Given the description of an element on the screen output the (x, y) to click on. 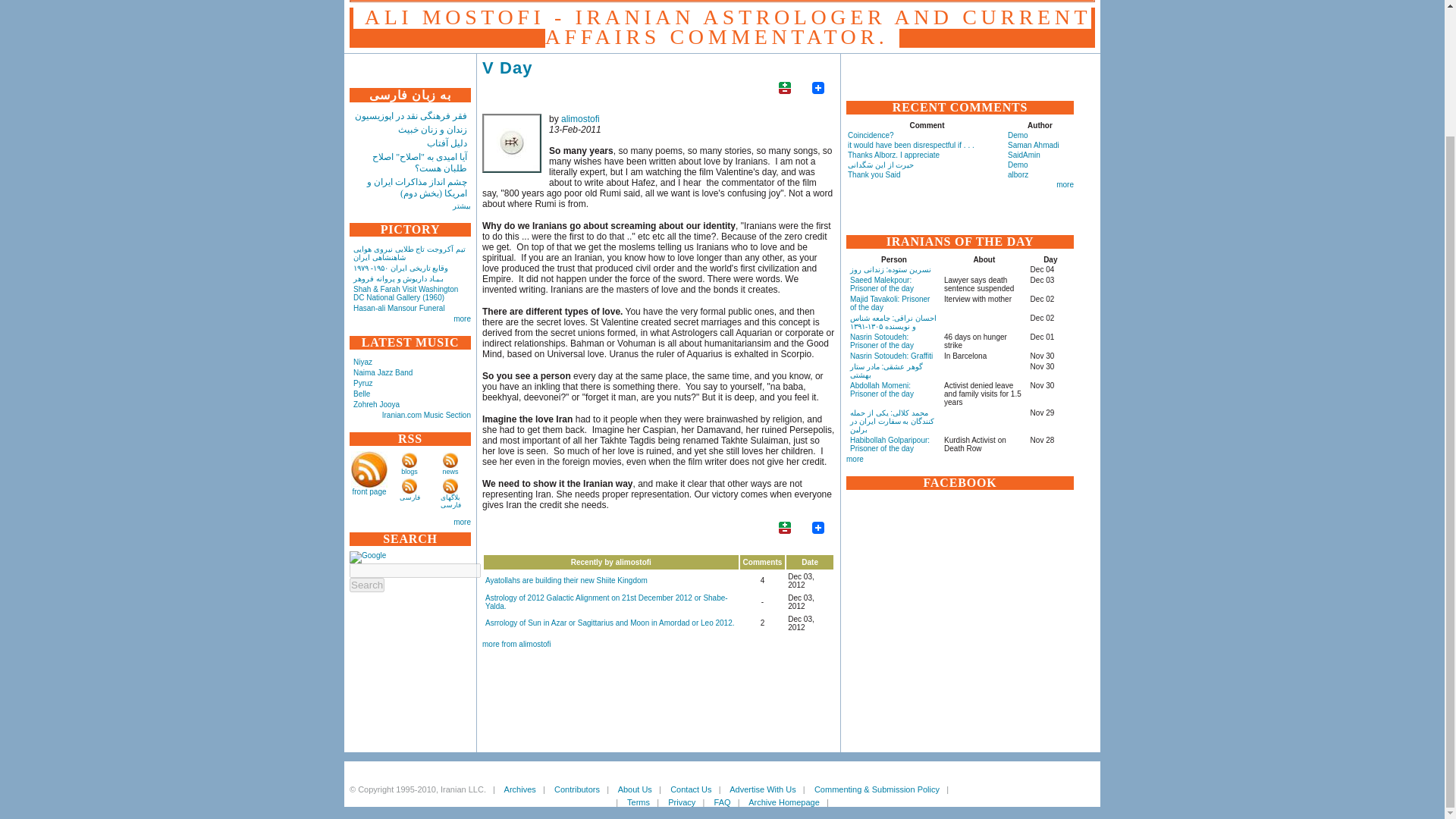
Hasan-ali Mansour Funeral (399, 307)
Naima Jazz Band (382, 372)
Pyruz (362, 383)
front page (368, 491)
Niyaz (362, 361)
Google (367, 557)
blogs (409, 471)
Belle (361, 393)
more (461, 318)
Search (366, 585)
View user profile. (579, 118)
news (450, 471)
Iranian.com Music Section (425, 415)
Zohreh Jooya (375, 404)
alimostofi (511, 142)
